Given the description of an element on the screen output the (x, y) to click on. 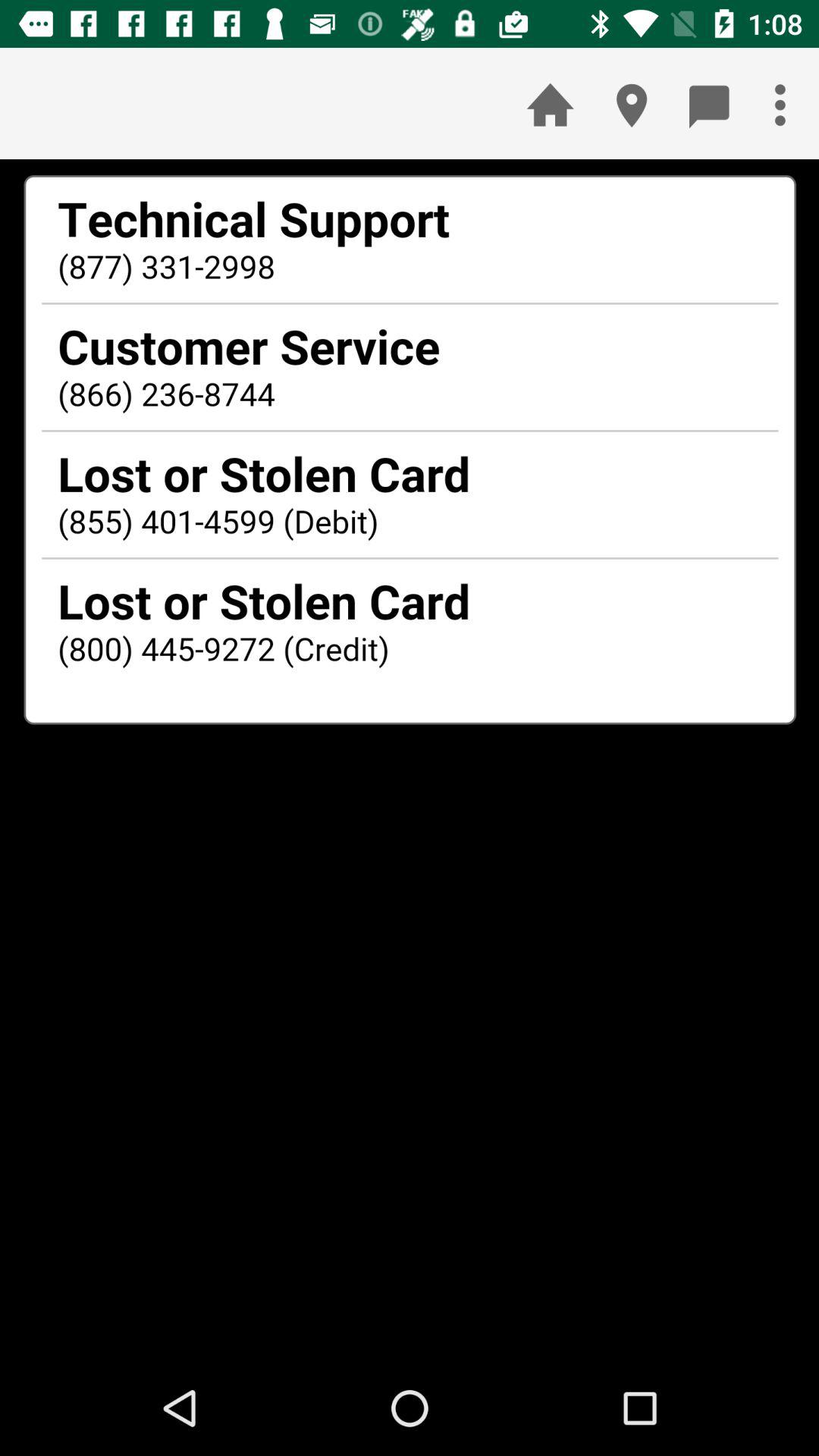
support (409, 759)
